Given the description of an element on the screen output the (x, y) to click on. 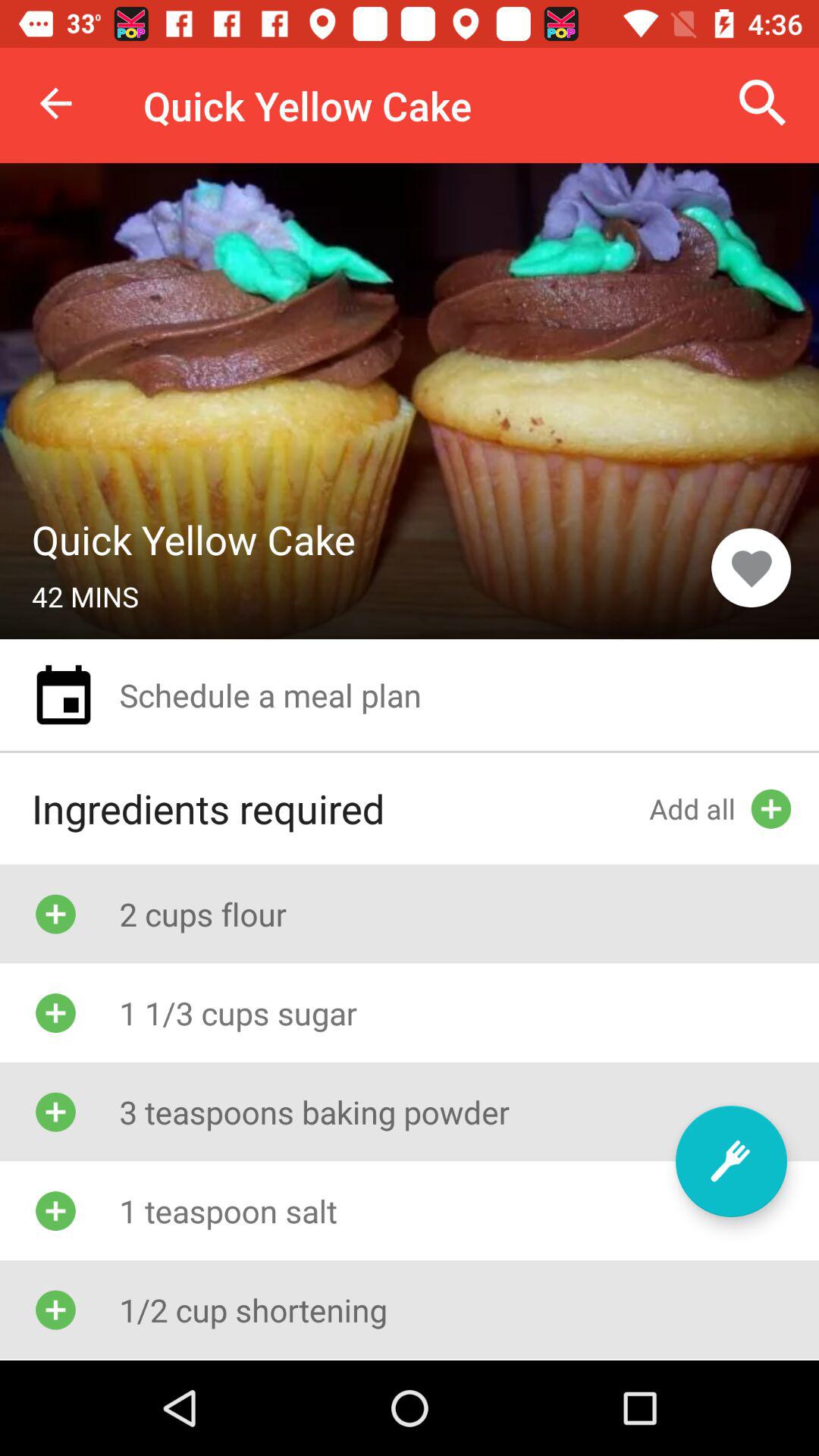
icon before 12 cup shortening text (55, 1309)
choose the icon above the text ingredients (63, 695)
click on the icon which is left of 3 teaspoons baking powder (55, 1111)
click on the icon which is to the right side of the teaspoon salt (731, 1161)
